Given the description of an element on the screen output the (x, y) to click on. 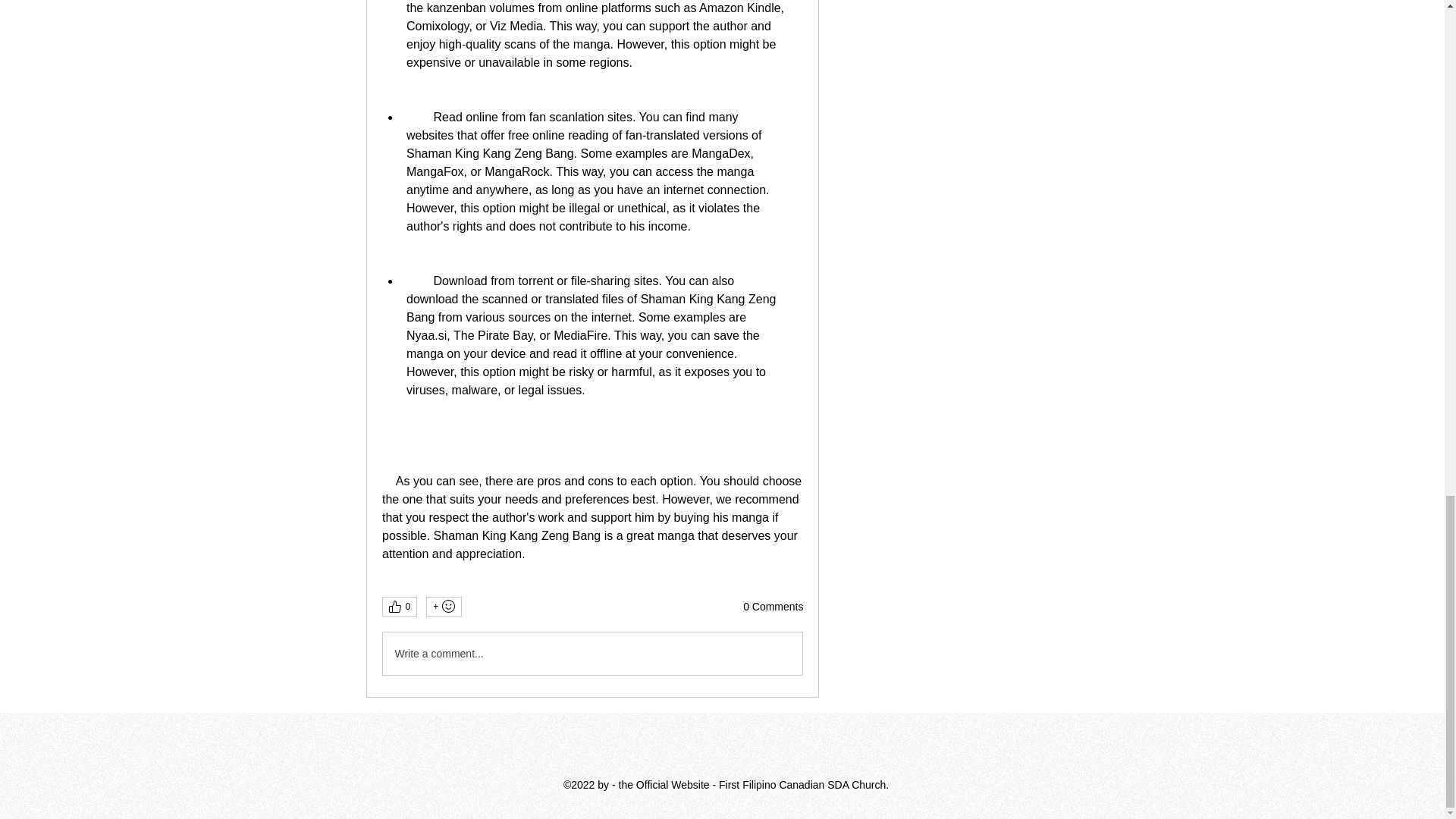
Write a comment... (591, 653)
0 Comments (772, 607)
